Given the description of an element on the screen output the (x, y) to click on. 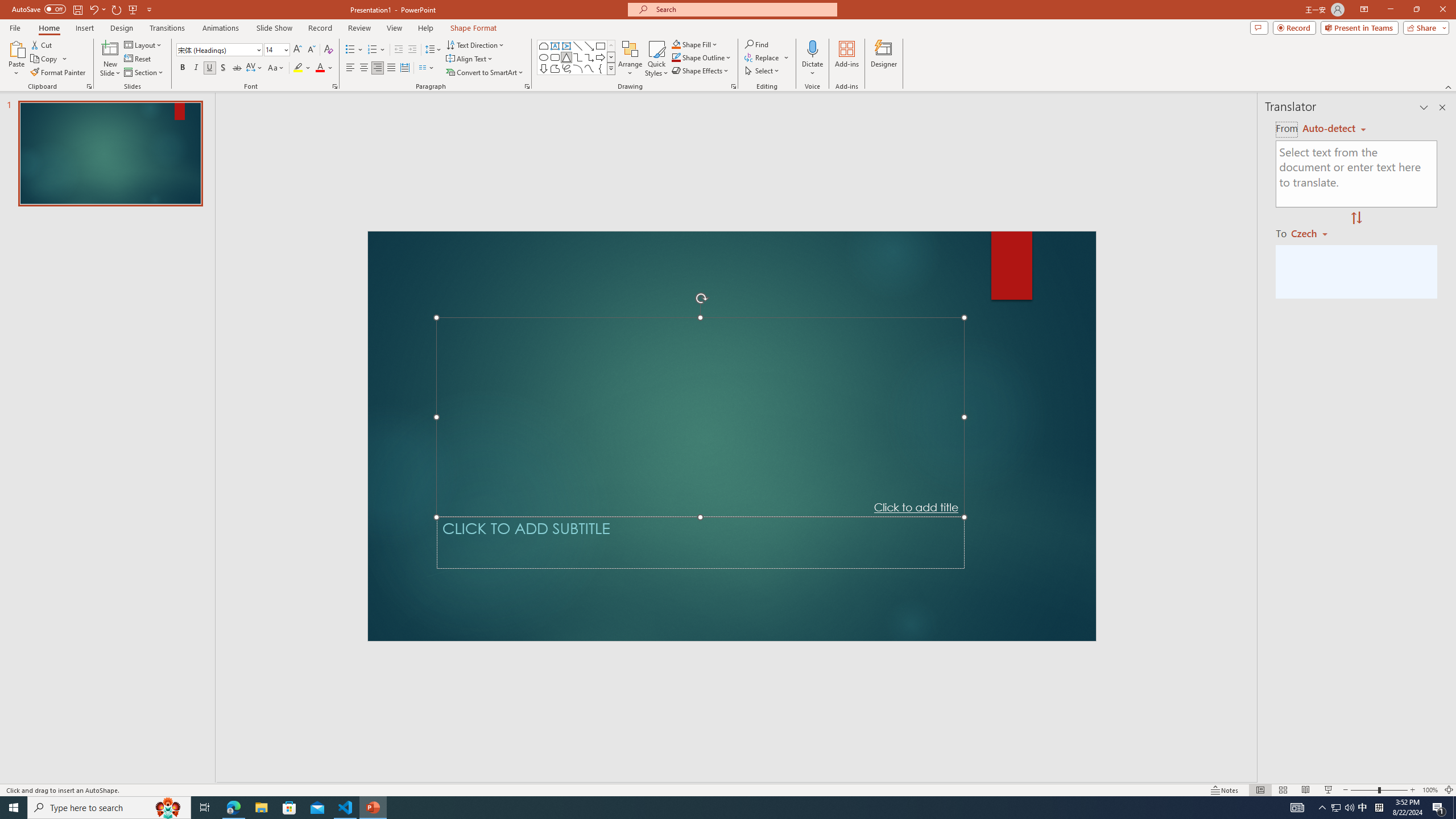
Czech (1313, 232)
Auto-detect (1334, 128)
Subtitle TextBox (699, 542)
